Given the description of an element on the screen output the (x, y) to click on. 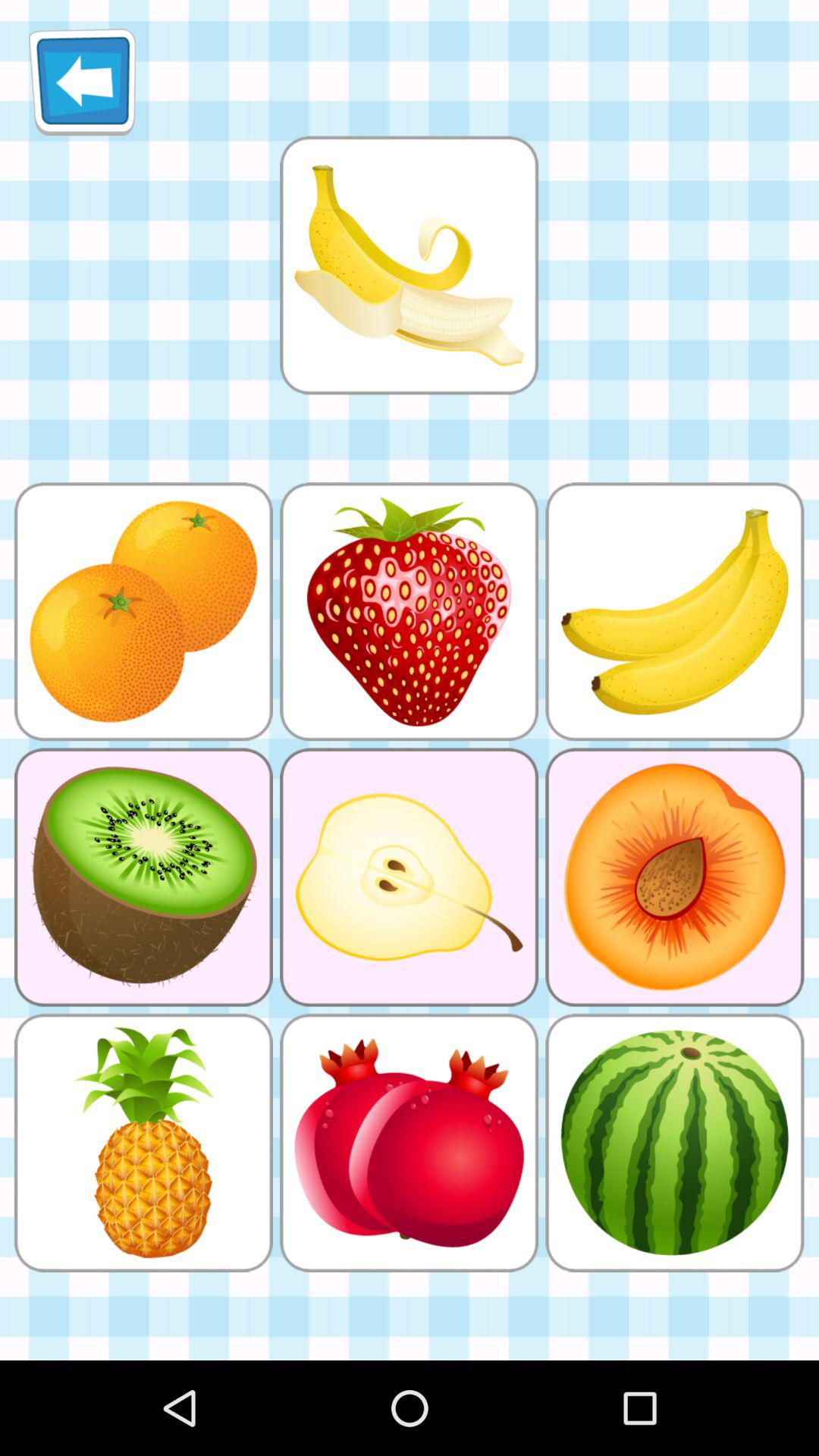
go back to previous screen (82, 82)
